Given the description of an element on the screen output the (x, y) to click on. 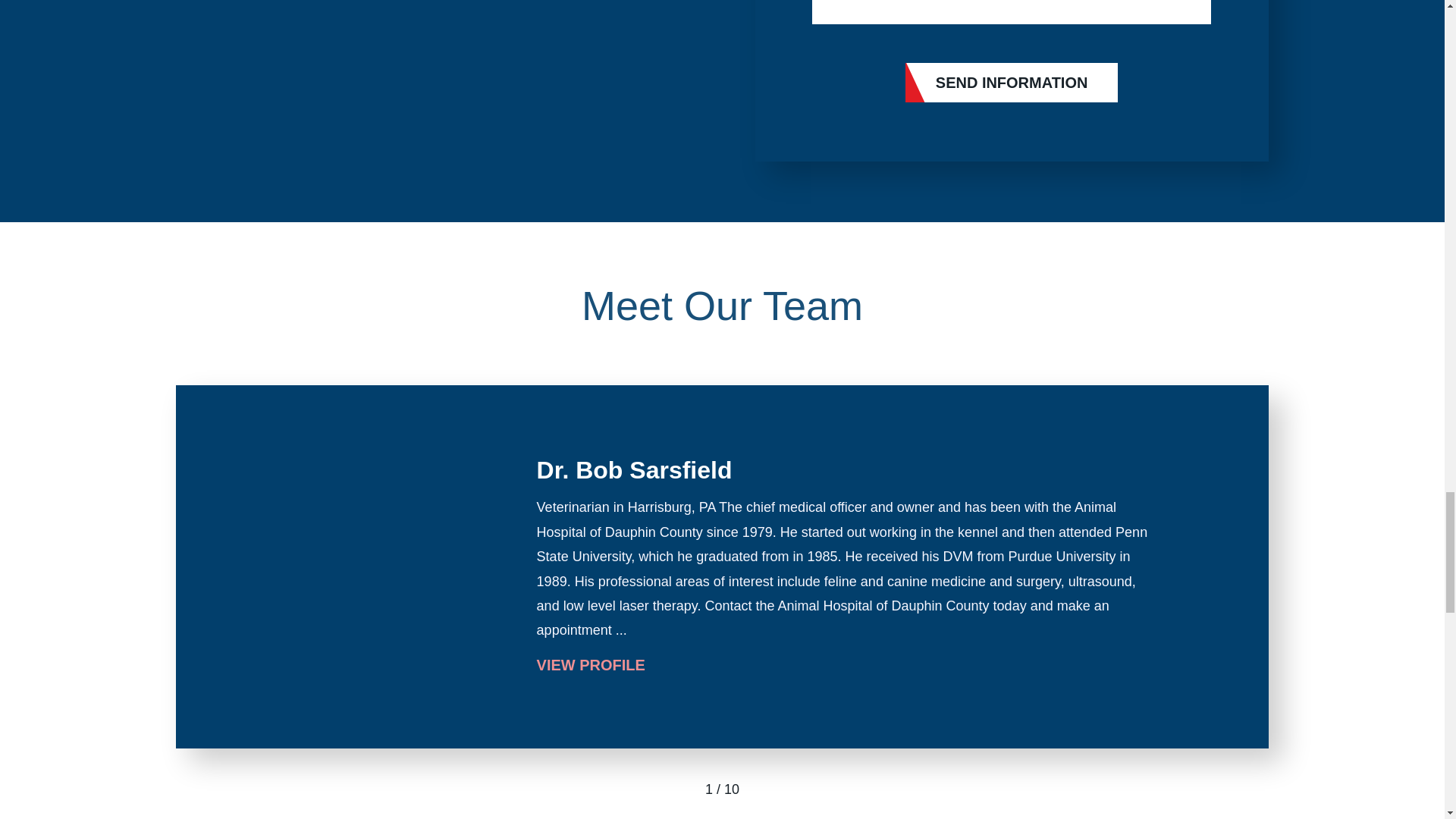
View next item (763, 789)
View previous item (680, 789)
